Given the description of an element on the screen output the (x, y) to click on. 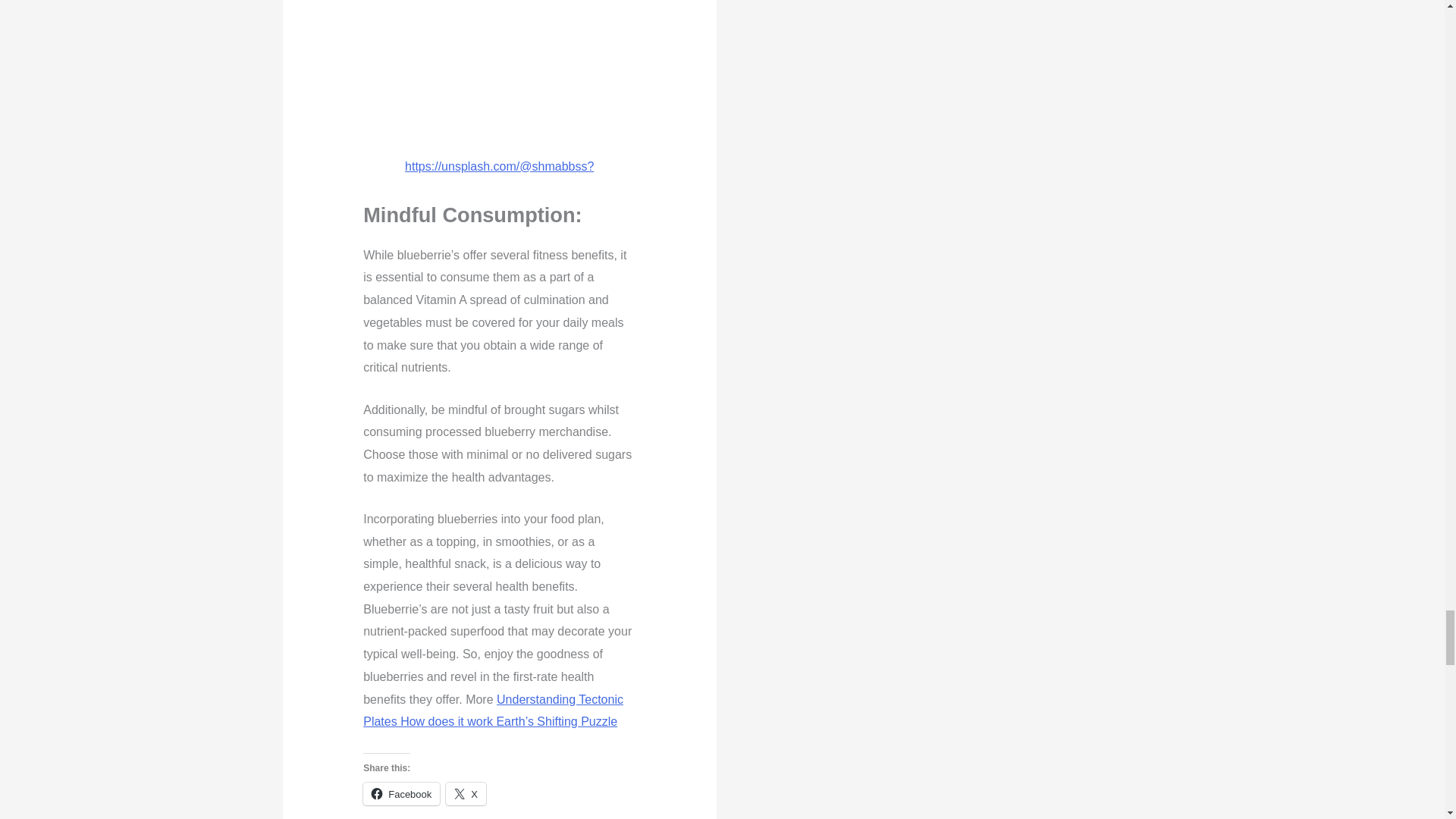
Click to share on X (465, 793)
Click to share on Facebook (400, 793)
